Given the description of an element on the screen output the (x, y) to click on. 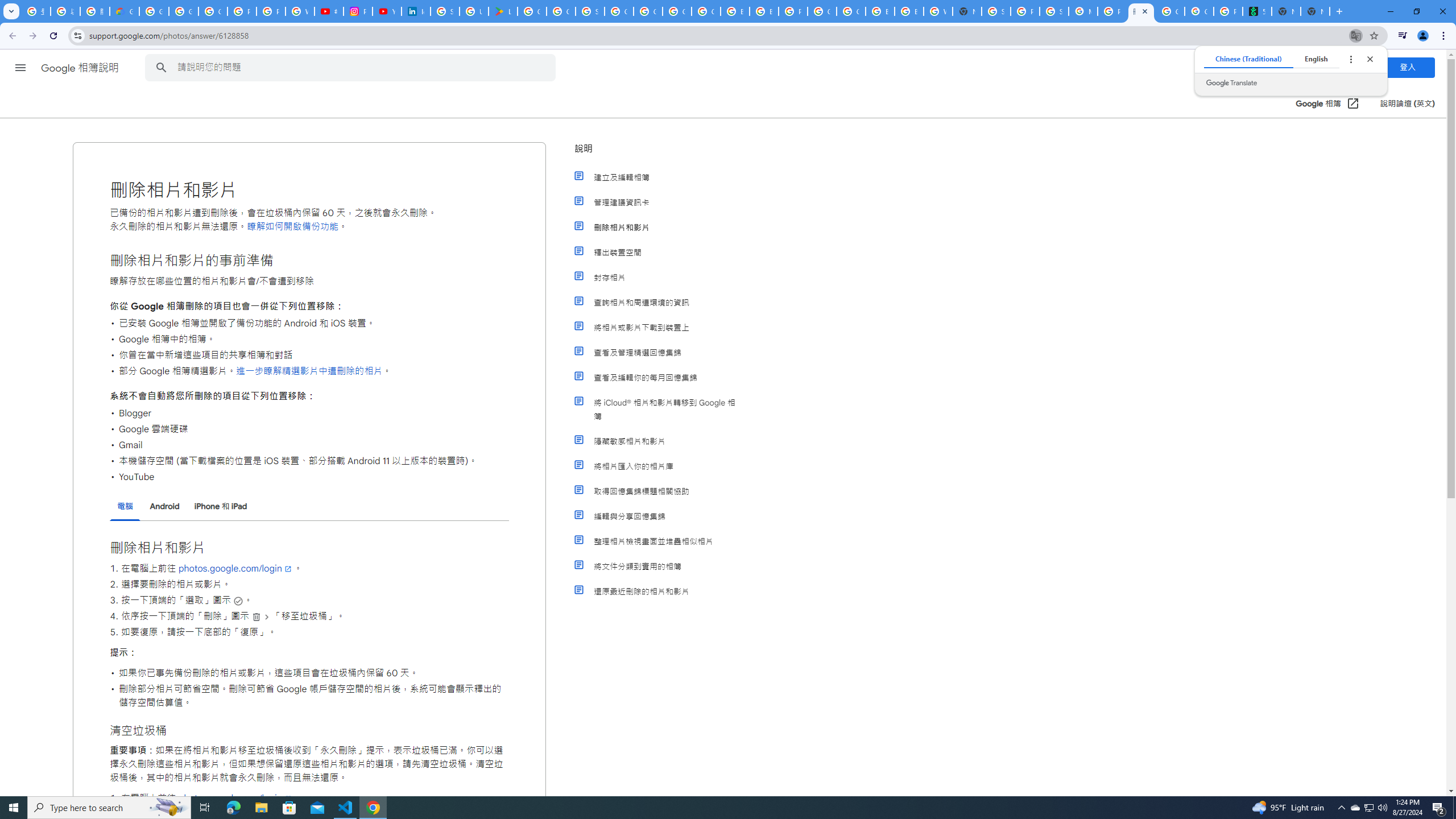
New Tab (967, 11)
